Given the description of an element on the screen output the (x, y) to click on. 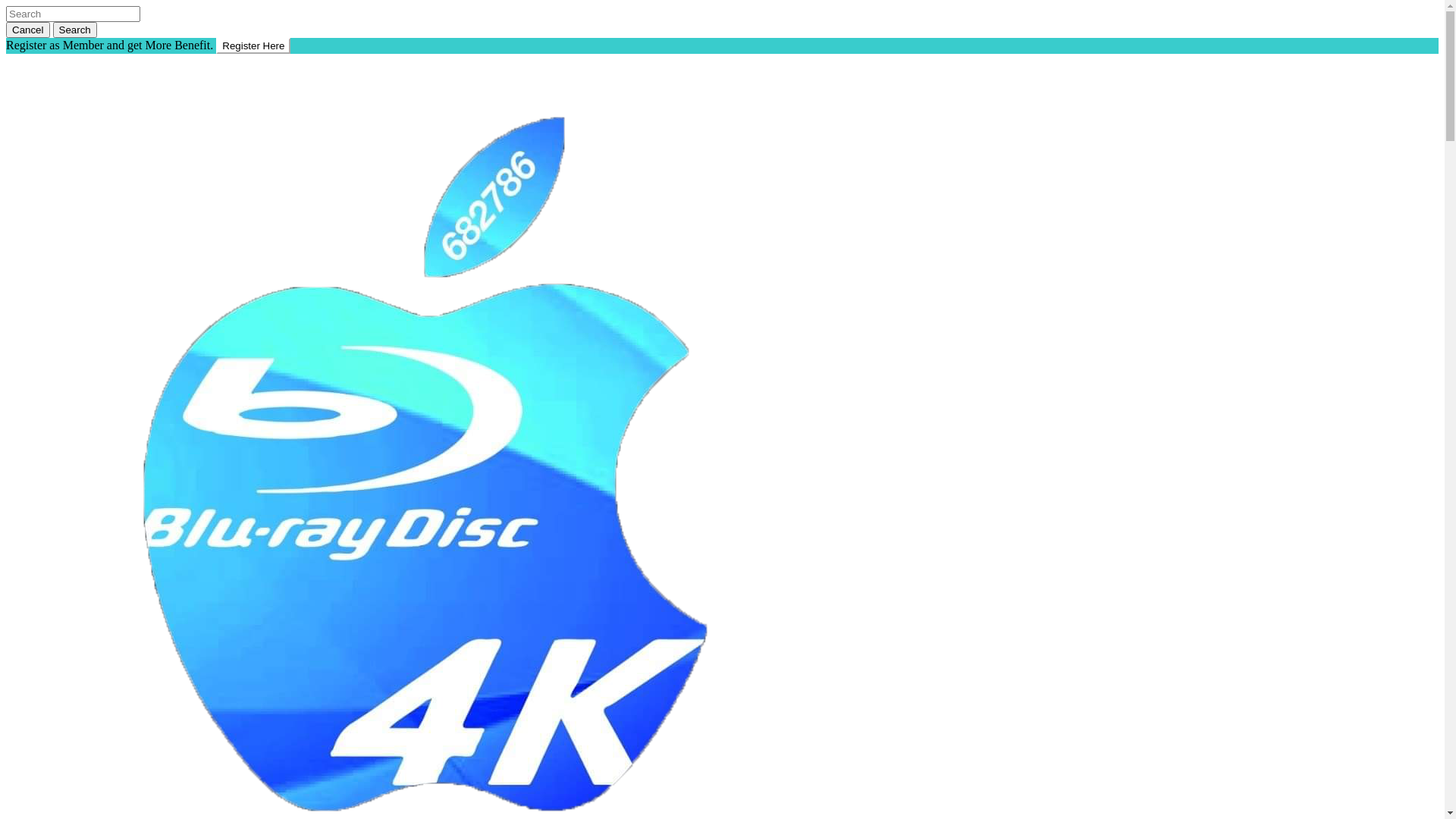
Cancel Element type: text (28, 29)
Register Here Element type: text (253, 45)
Search Element type: text (75, 29)
